Given the description of an element on the screen output the (x, y) to click on. 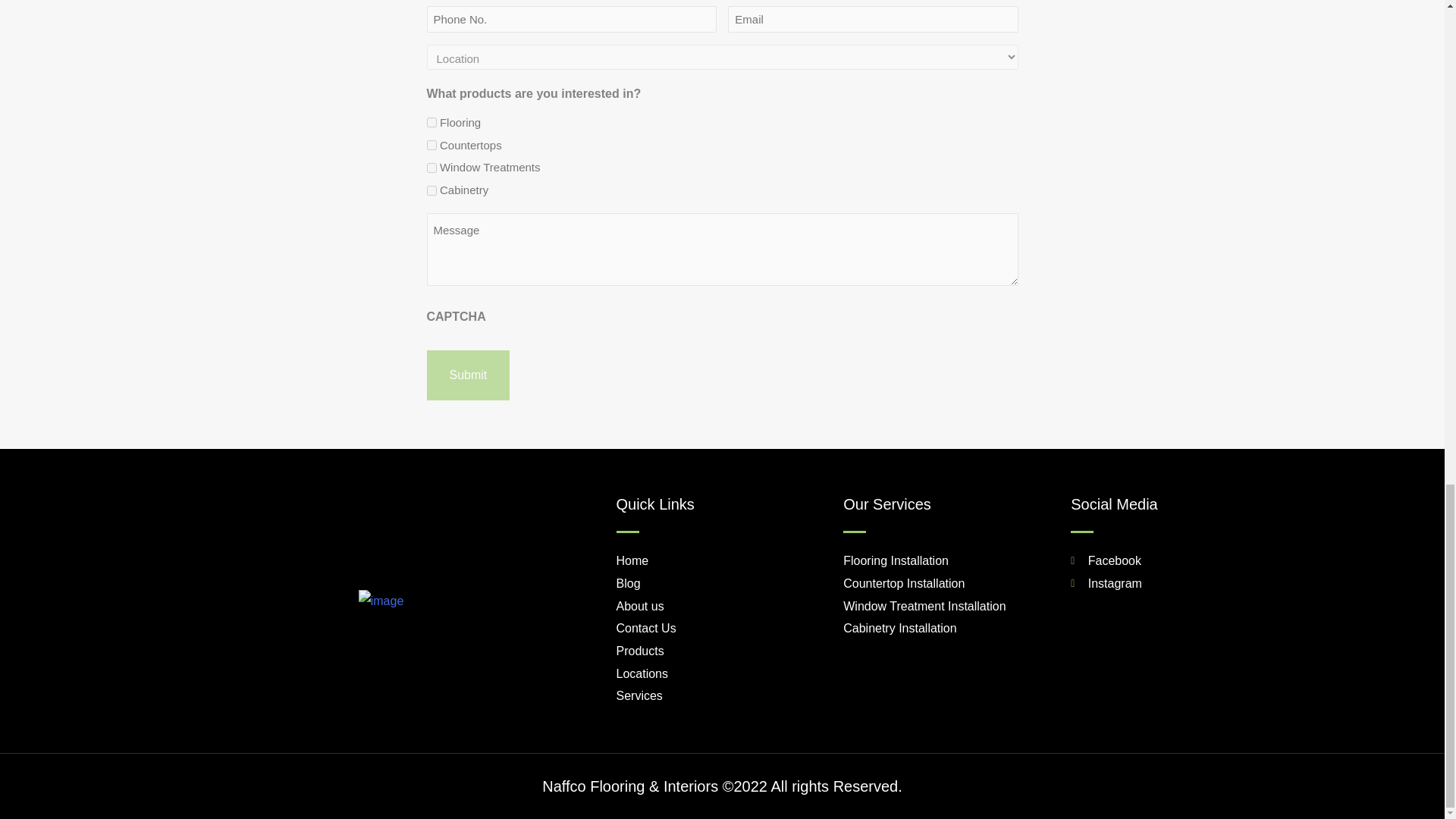
Window Treatments (430, 167)
Flooring (430, 122)
Submit (467, 375)
Cabinetry (430, 190)
image (381, 600)
Countertops (430, 144)
